Given the description of an element on the screen output the (x, y) to click on. 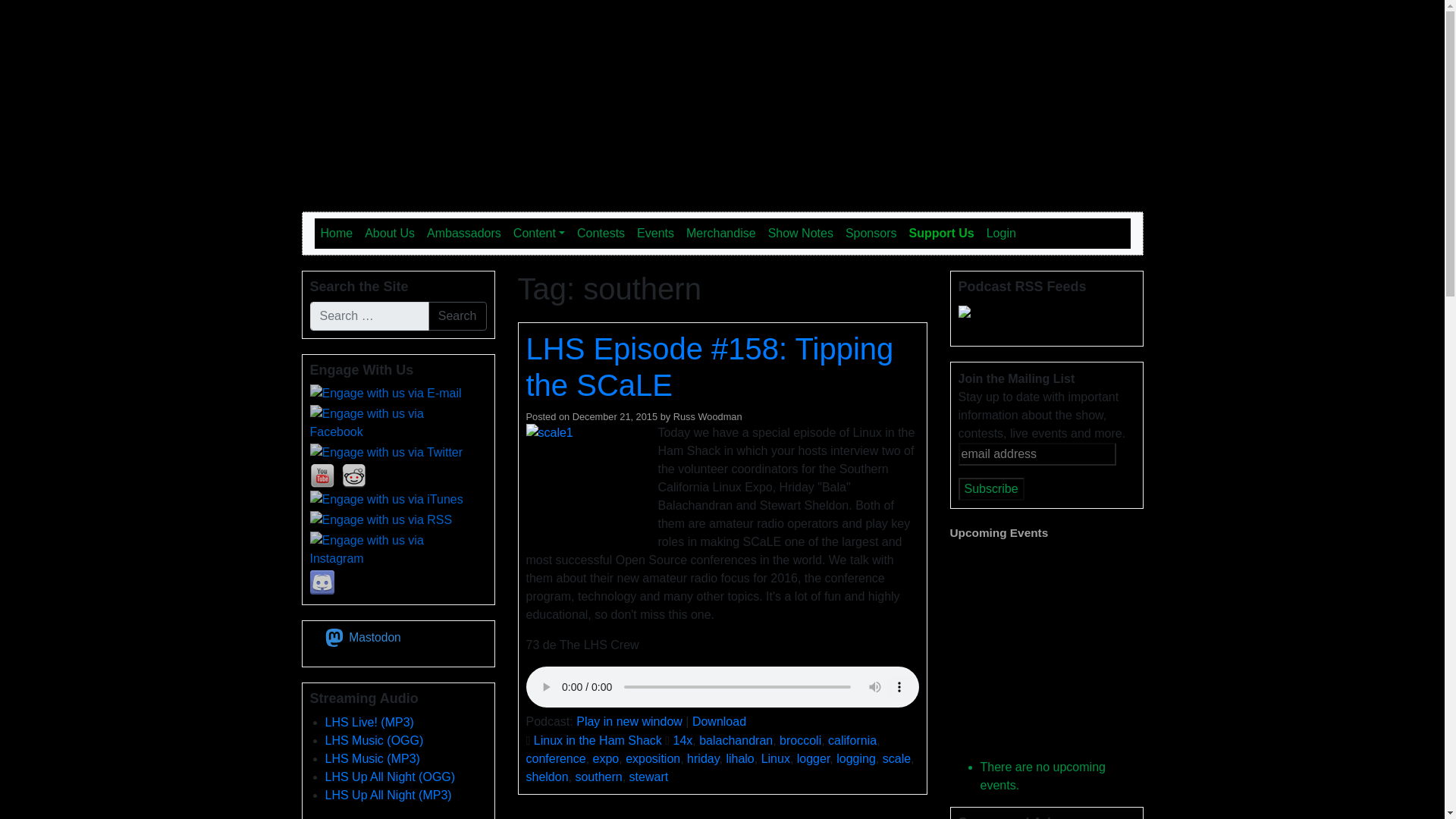
Contests (600, 233)
Linux in the Ham Shack (461, 25)
Search (457, 316)
Support Us (940, 233)
Engage with us via iTunes (385, 499)
About Us (389, 233)
Engage with us via YouTube (320, 476)
Engage with us via Twitter (385, 452)
Engage with us via Discord (320, 582)
Ambassadors (463, 233)
Engage with us via Facebook (393, 422)
Subscribe (991, 488)
Sponsors (871, 233)
Home (336, 233)
Engage with us via Reddit (352, 476)
